Given the description of an element on the screen output the (x, y) to click on. 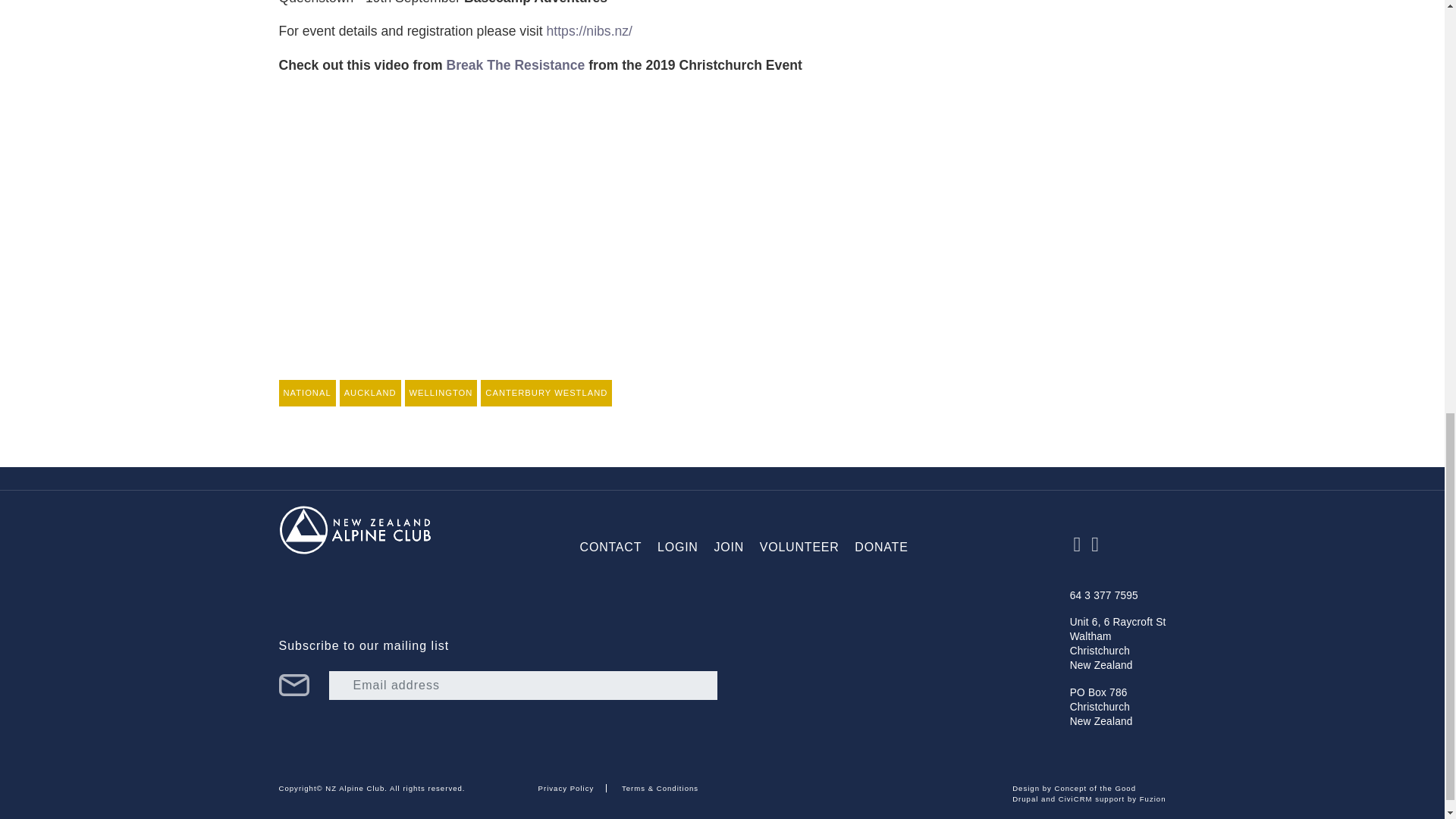
Subscribe (293, 685)
